Given the description of an element on the screen output the (x, y) to click on. 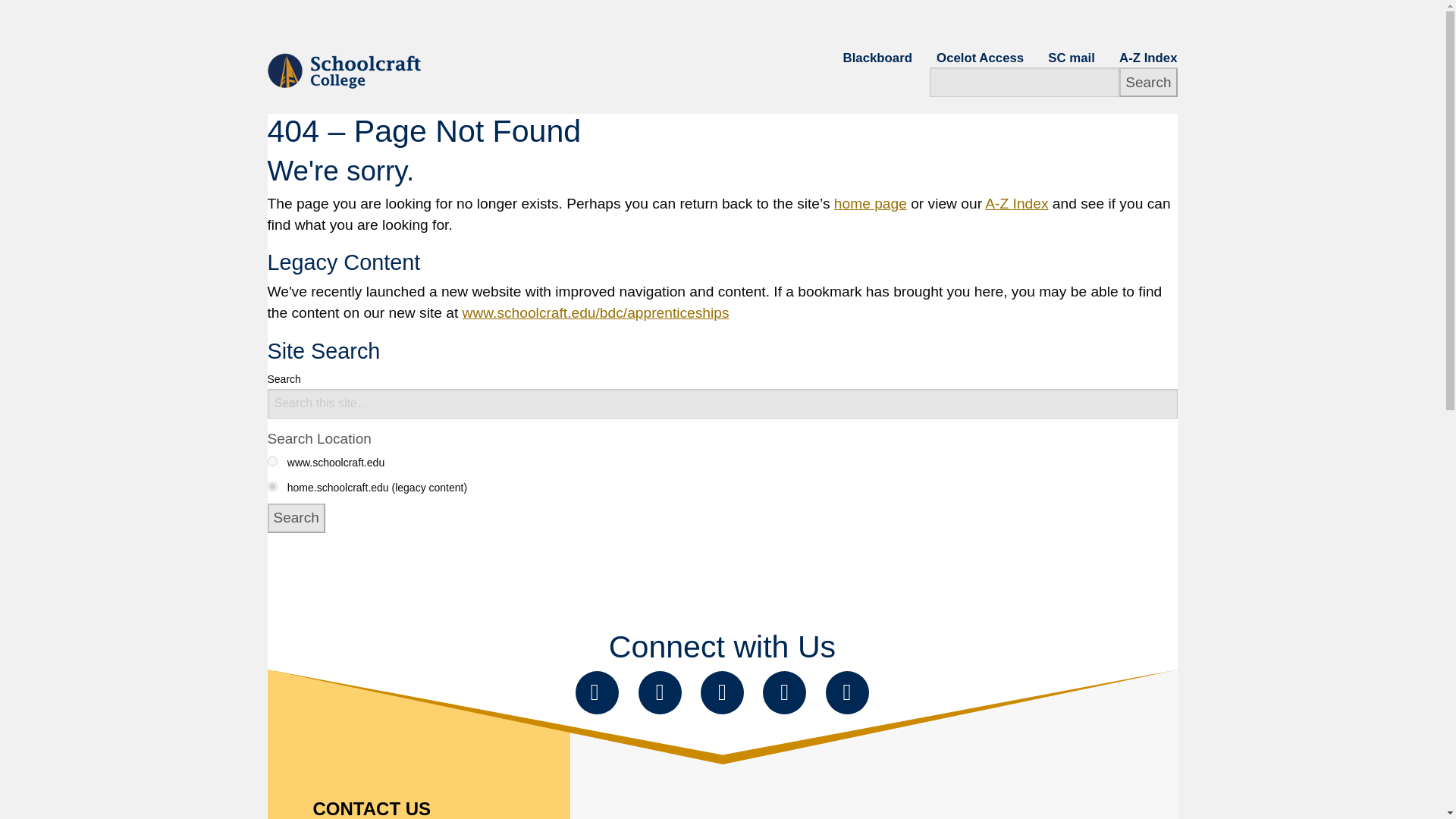
Search (295, 518)
This link opens a new website in browser (979, 57)
Search (295, 518)
Search (1147, 82)
www.schoolcraft.edu (271, 461)
This link opens a new website in browser (877, 57)
This link opens a new website in browser (1071, 57)
home.schoolcraft.edu (271, 486)
Search (1147, 82)
